Given the description of an element on the screen output the (x, y) to click on. 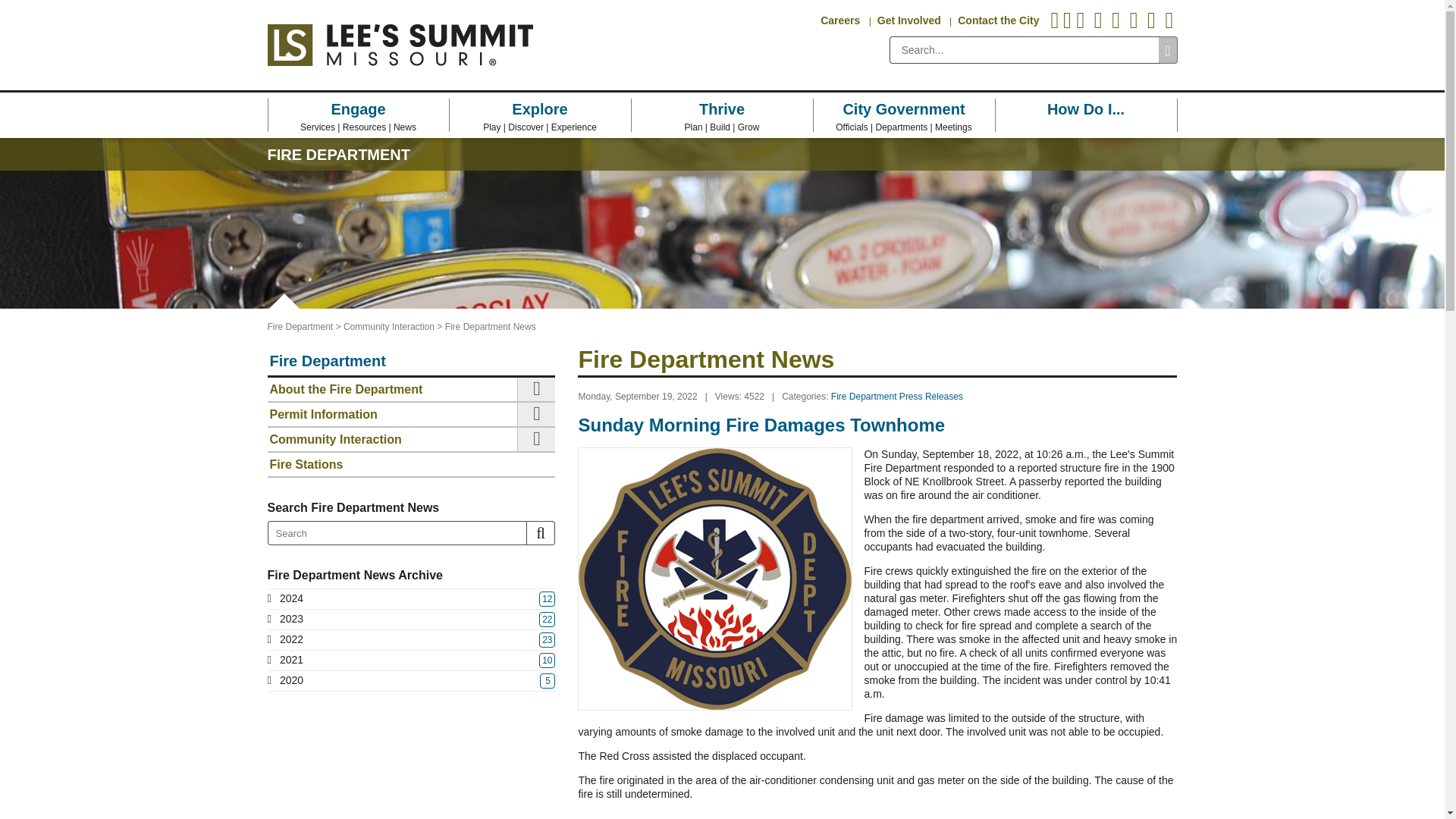
City of LS Home (399, 45)
City of LS Home Page (399, 45)
Contact the City (998, 15)
Careers (839, 15)
search input (1023, 49)
Get Involved (908, 15)
